Given the description of an element on the screen output the (x, y) to click on. 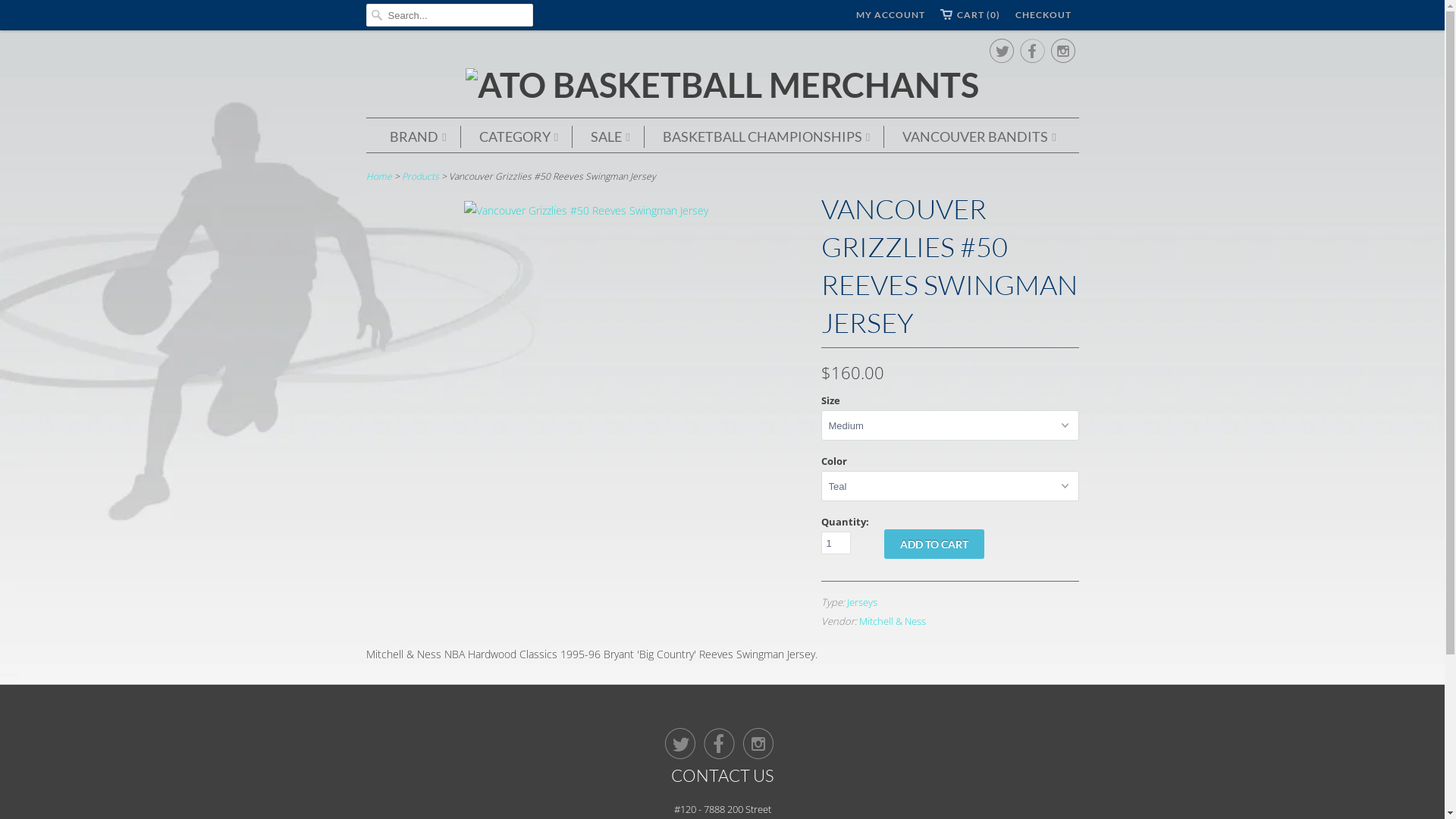
Add to Cart Element type: text (934, 543)
Vancouver Grizzlies #50 Reeves Swingman Jersey Element type: hover (586, 210)
Home Element type: text (378, 175)
Products Element type: text (420, 175)
Jerseys Element type: text (861, 601)
ATO Basketball Merchants Element type: hover (721, 85)
CHECKOUT Element type: text (1042, 14)
CART (0) Element type: text (970, 14)
MY ACCOUNT Element type: text (889, 14)
Mitchell & Ness Element type: text (891, 620)
